Given the description of an element on the screen output the (x, y) to click on. 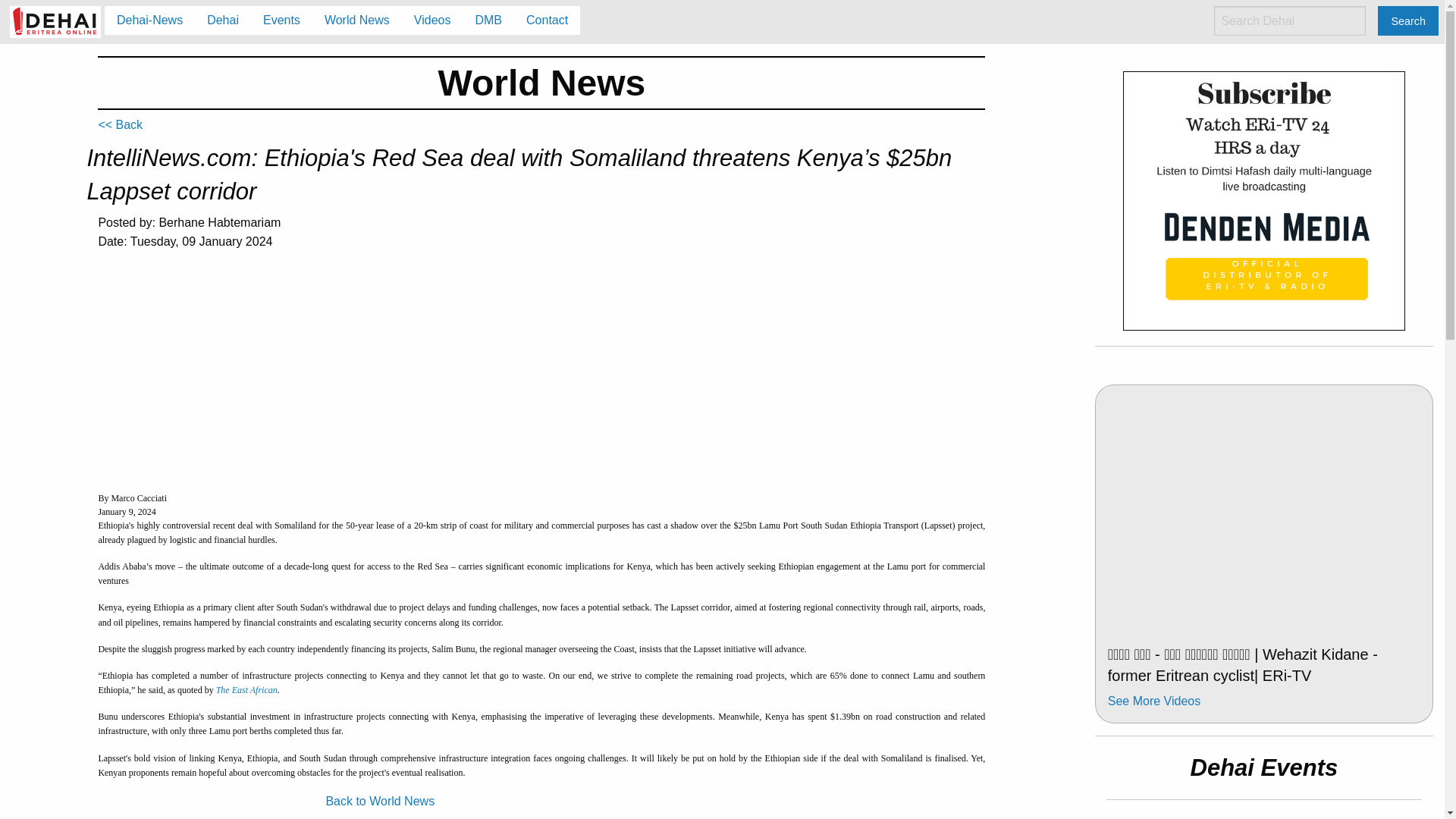
DMB (488, 20)
Videos (432, 20)
World News (357, 20)
Search (1407, 20)
See More Videos (1153, 700)
Dehai (222, 20)
Back to World News (378, 800)
Events (281, 20)
Dehai-News (149, 20)
Contact (546, 20)
The East African (246, 689)
